Given the description of an element on the screen output the (x, y) to click on. 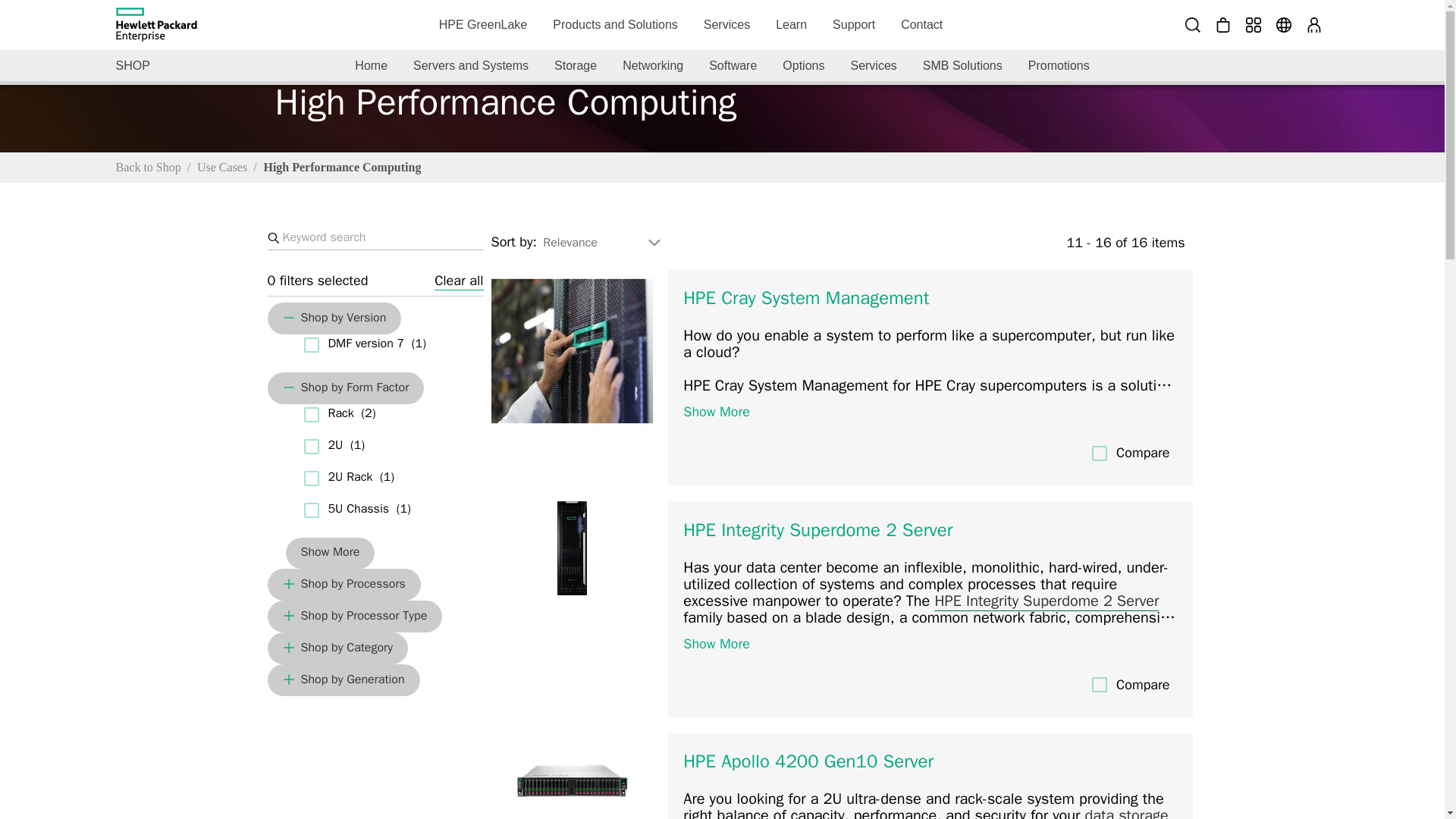
Learn (791, 24)
Contact (921, 24)
Products and Solutions (614, 24)
HPE GreenLake (483, 24)
Services (727, 24)
Support (853, 24)
Hewlett Packard Enterprise (155, 24)
